Given the description of an element on the screen output the (x, y) to click on. 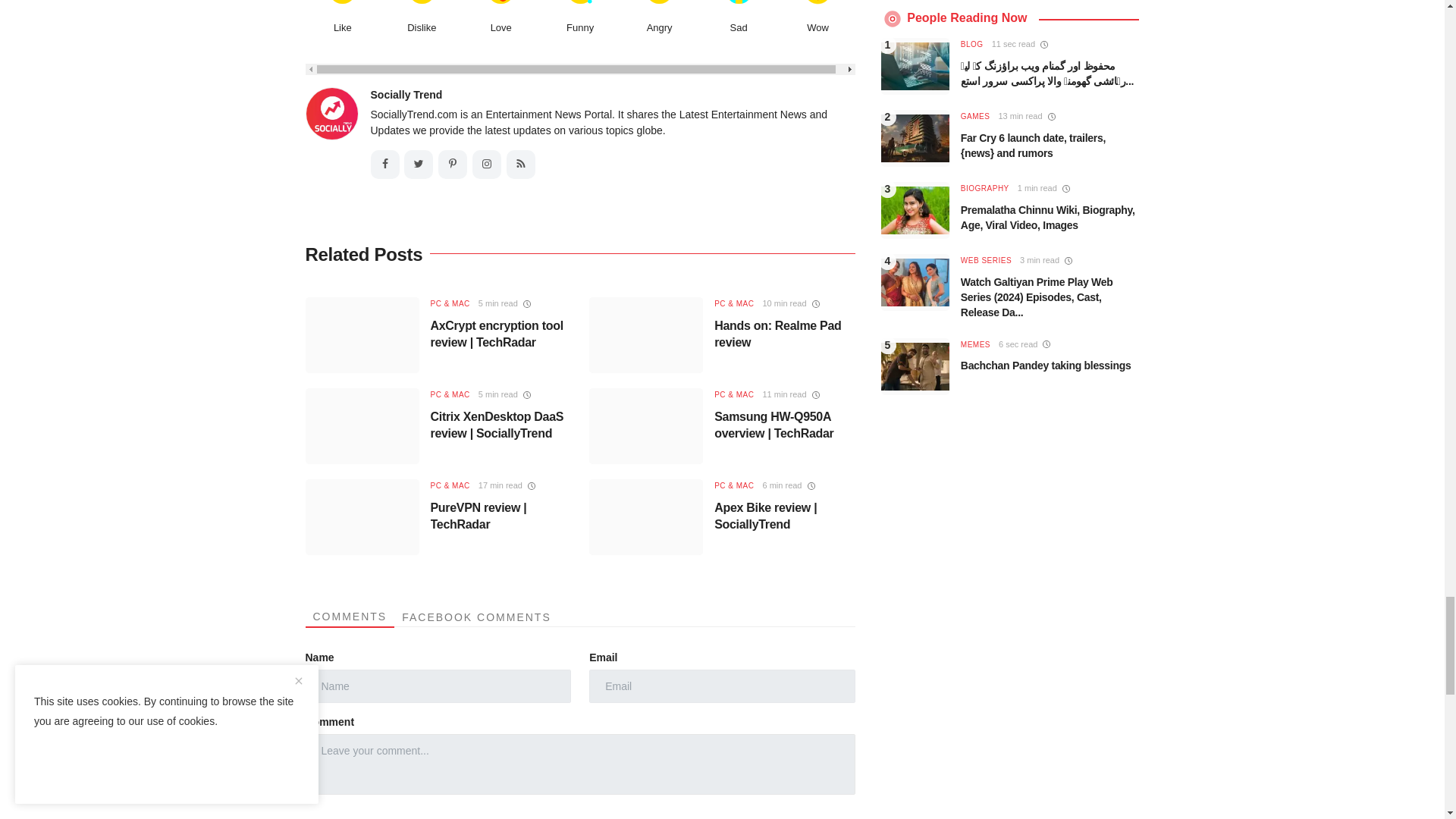
twitter (418, 164)
facebook (383, 164)
instagram (485, 164)
RSS feed (520, 164)
pinterest (452, 164)
